Given the description of an element on the screen output the (x, y) to click on. 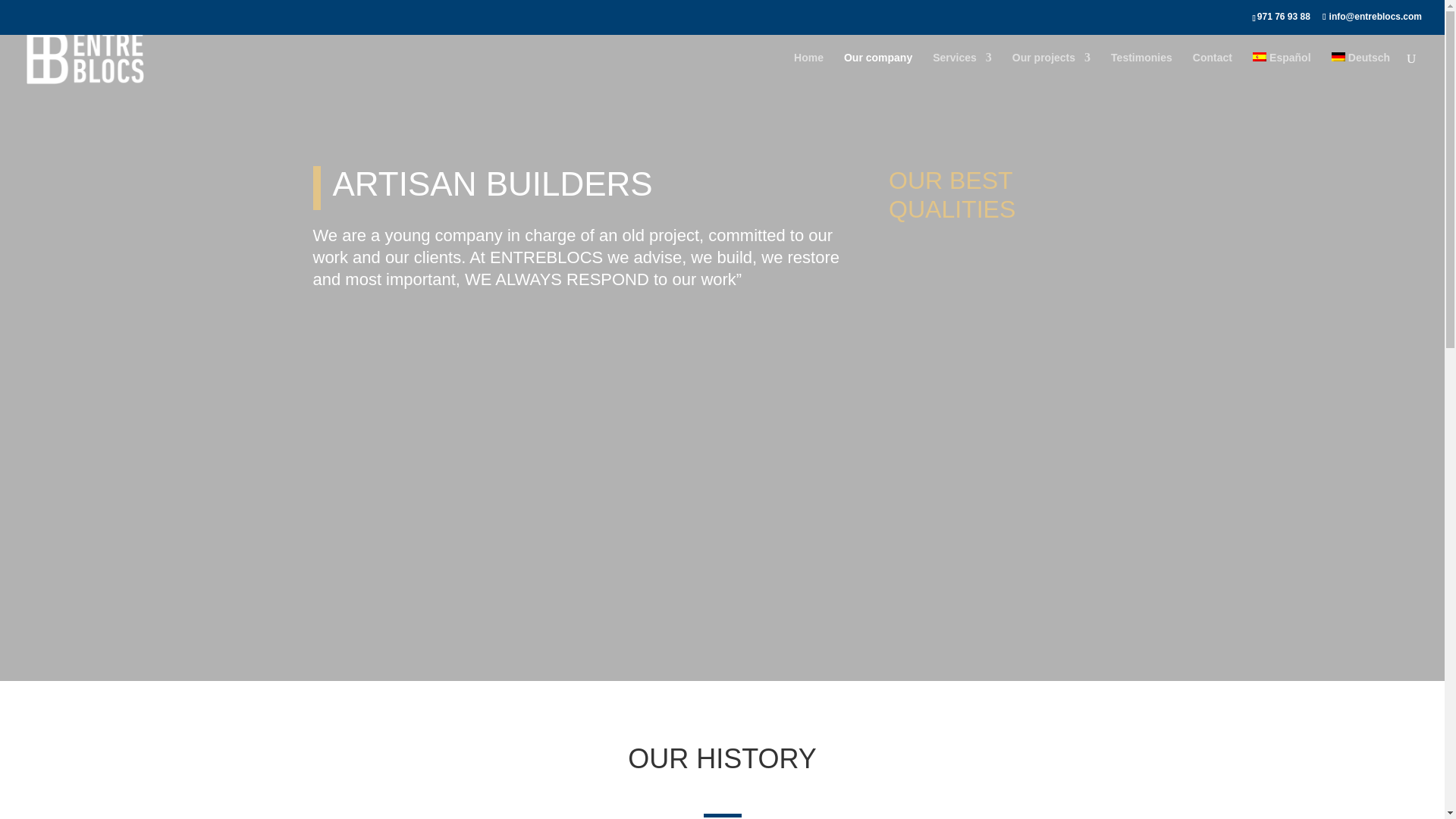
Testimonies (1141, 72)
Deutsch (1361, 72)
Our projects (1050, 72)
Our company (878, 72)
Deutsch (1361, 72)
Contact (1211, 72)
Services (962, 72)
